Given the description of an element on the screen output the (x, y) to click on. 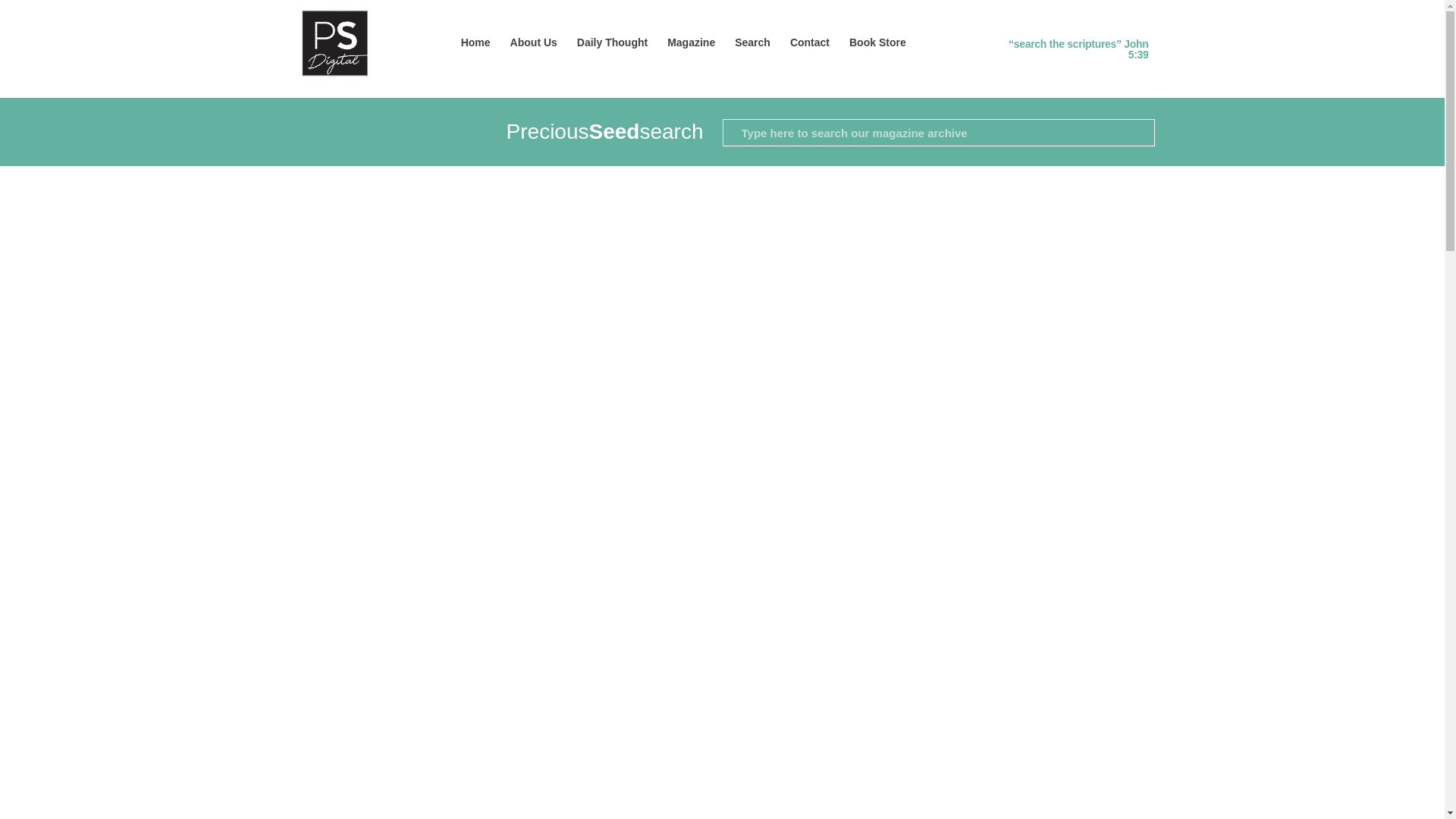
Search (752, 42)
Home (475, 42)
Magazine (691, 42)
Book Store (877, 42)
About Us (533, 42)
Contact (810, 42)
Daily Thought (612, 42)
